Given the description of an element on the screen output the (x, y) to click on. 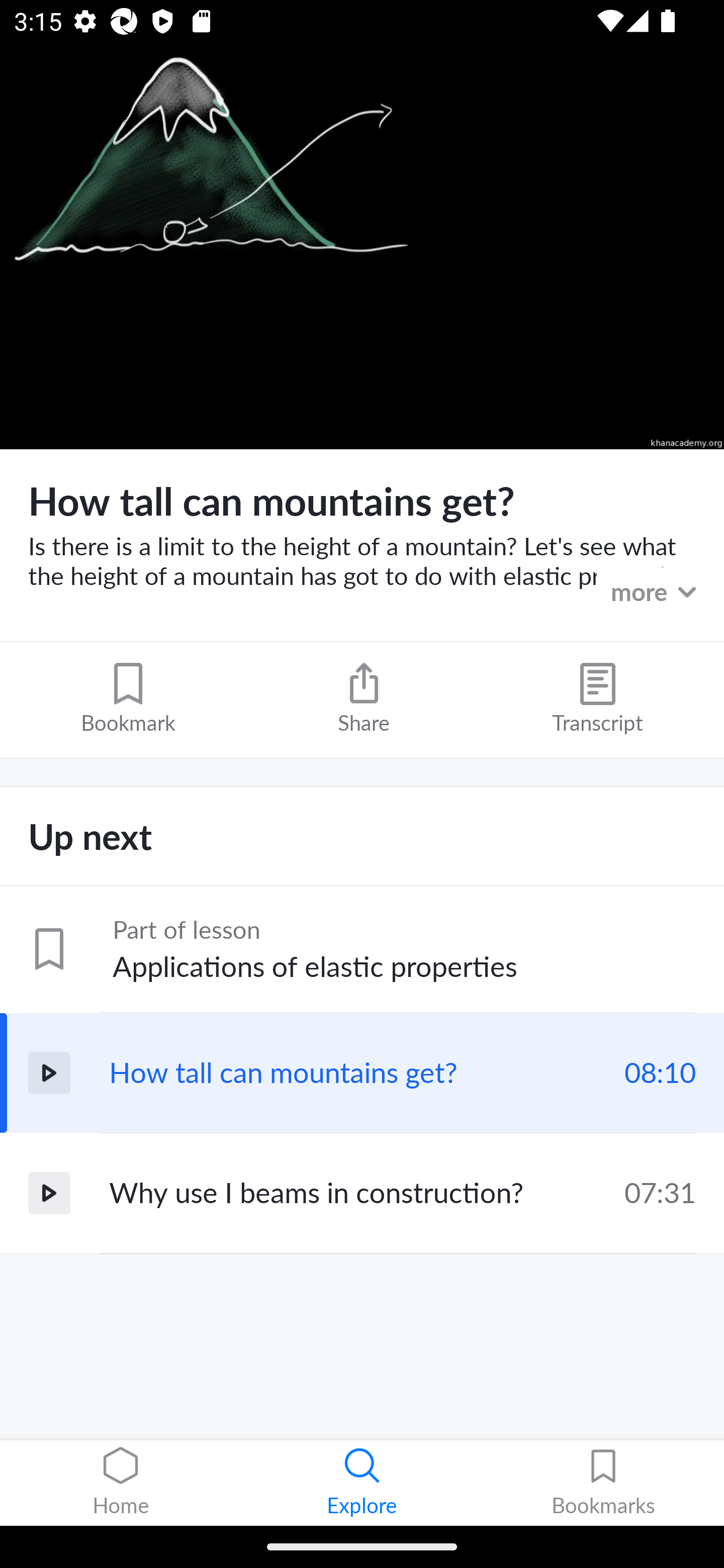
Toggle control visibility (362, 246)
Toggle description more (614, 590)
Bookmark (128, 699)
Share (363, 699)
Transcript (596, 699)
Part of lesson Applications of elastic properties (362, 948)
How tall can mountains get?  08:10 (362, 1072)
Why use I beams in construction?  07:31 (362, 1192)
Home (120, 1482)
Explore (361, 1482)
Bookmarks (603, 1482)
